Given the description of an element on the screen output the (x, y) to click on. 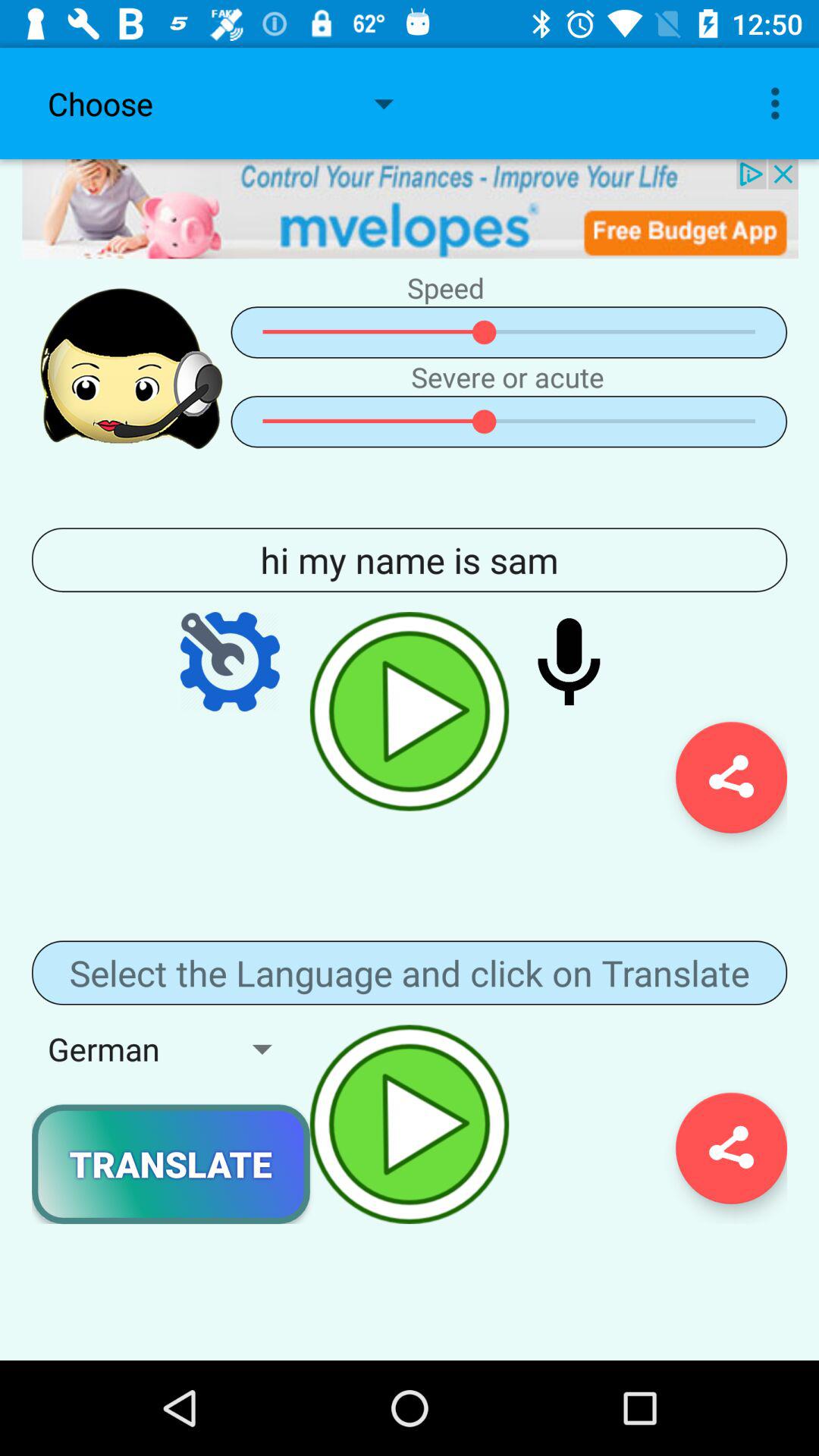
share the translation (731, 1148)
